Given the description of an element on the screen output the (x, y) to click on. 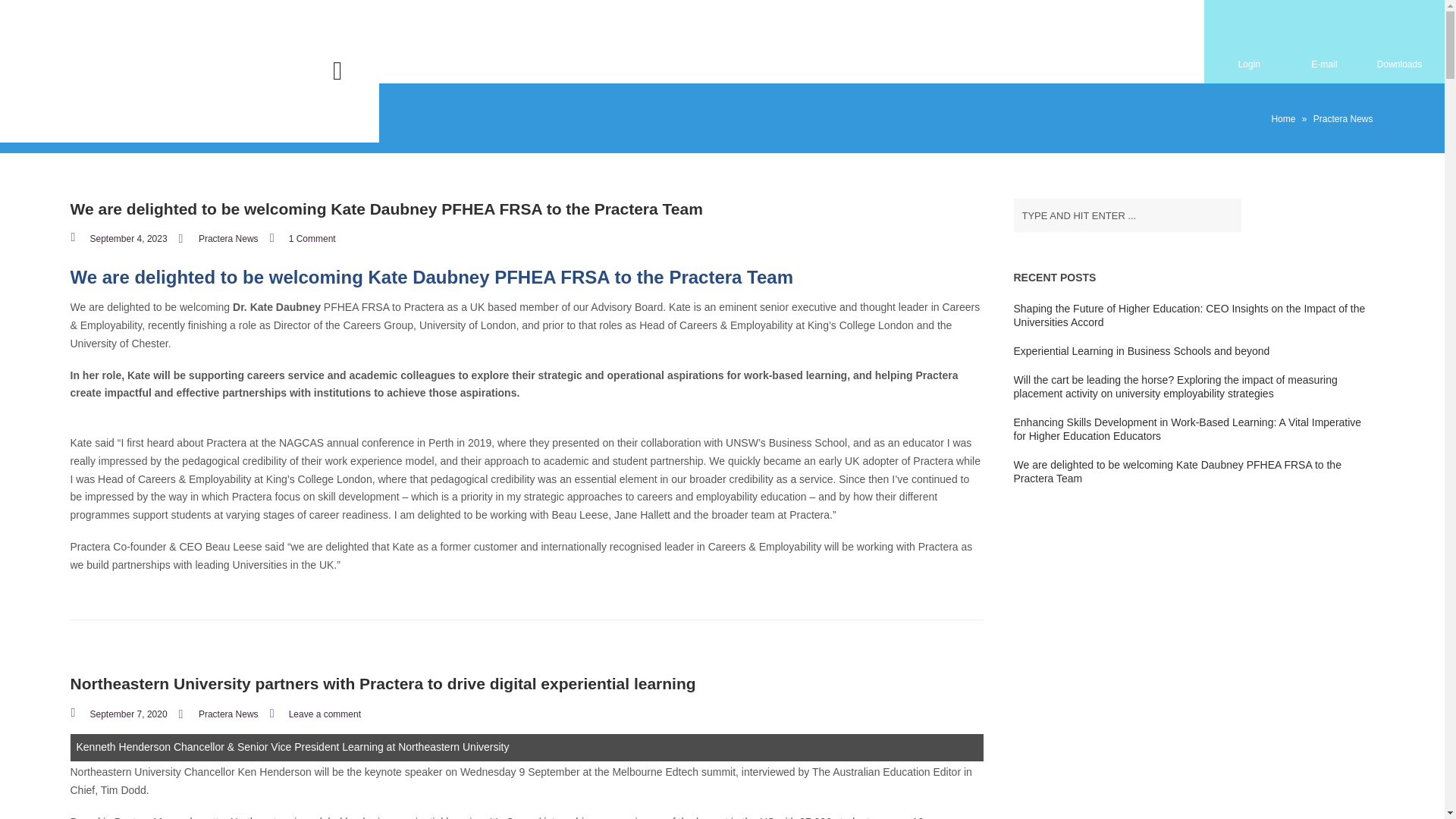
TYPE AND HIT ENTER ... (1126, 215)
TYPE AND HIT ENTER ... (1126, 215)
